Given the description of an element on the screen output the (x, y) to click on. 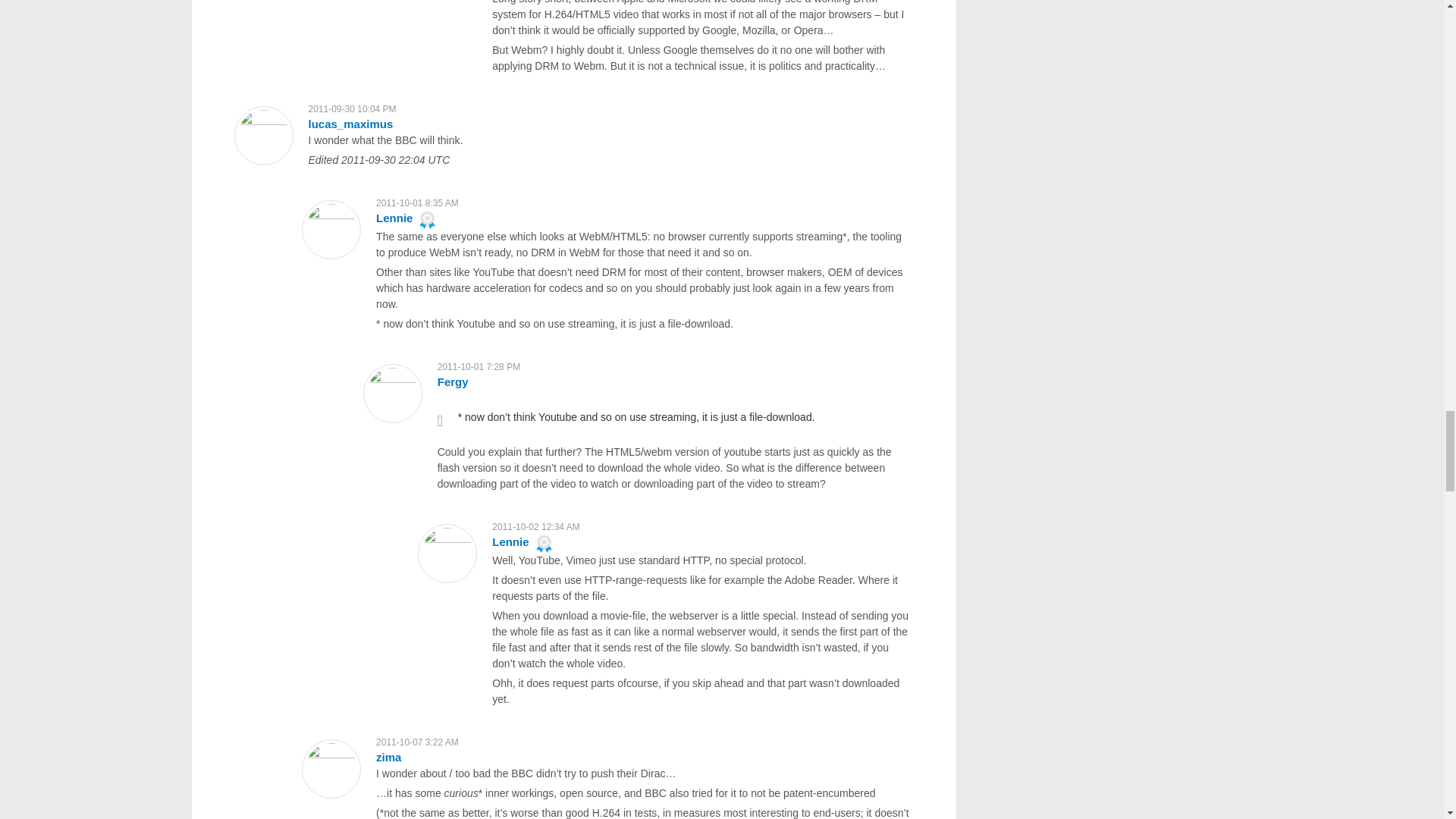
Fergy (453, 381)
zima (388, 757)
Lennie (393, 217)
Lennie (510, 541)
